Given the description of an element on the screen output the (x, y) to click on. 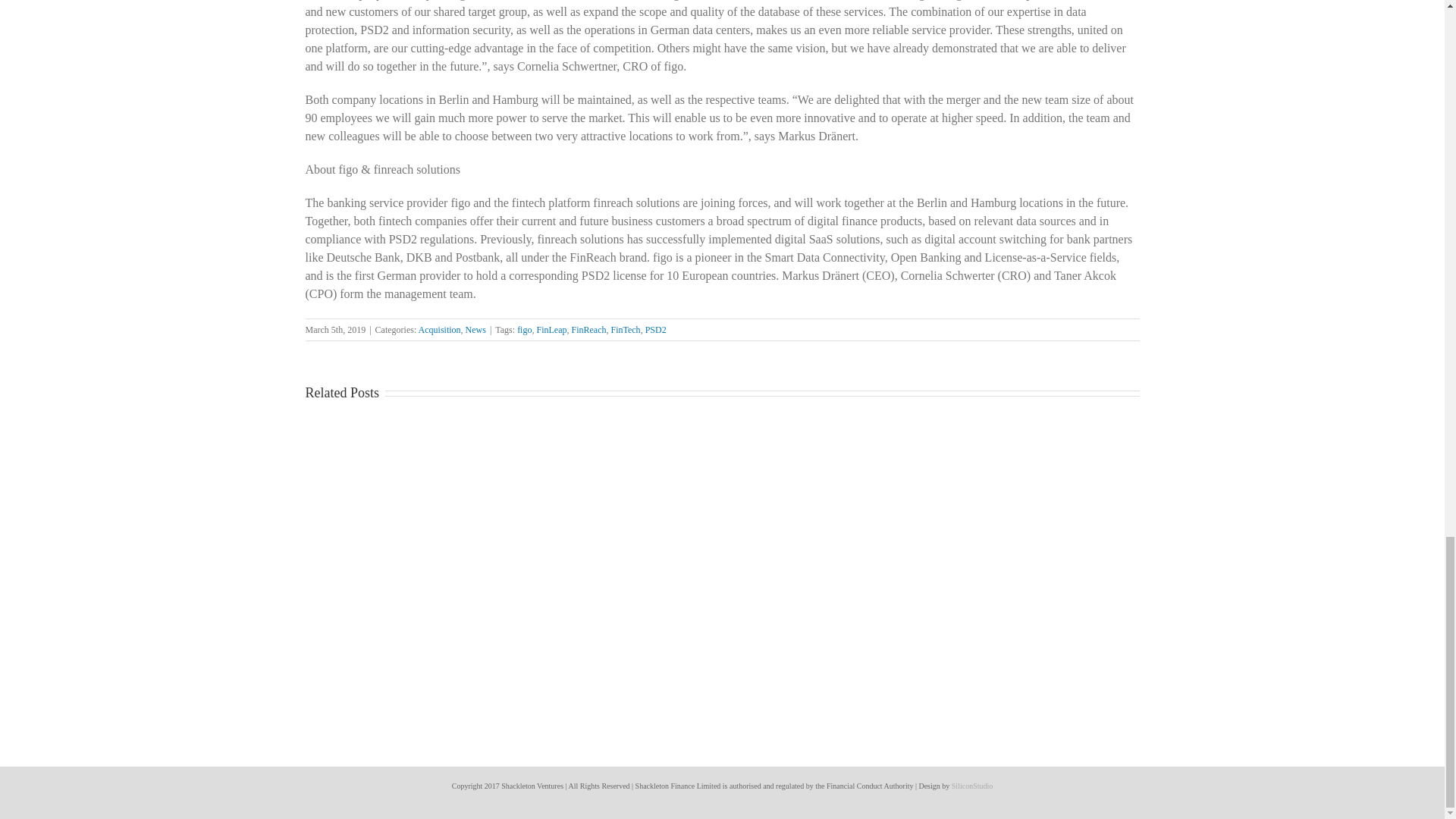
PSD2 (655, 329)
FinReach (587, 329)
Acquisition (440, 329)
FinLeap (550, 329)
News (475, 329)
FinTech (625, 329)
figo (523, 329)
